Given the description of an element on the screen output the (x, y) to click on. 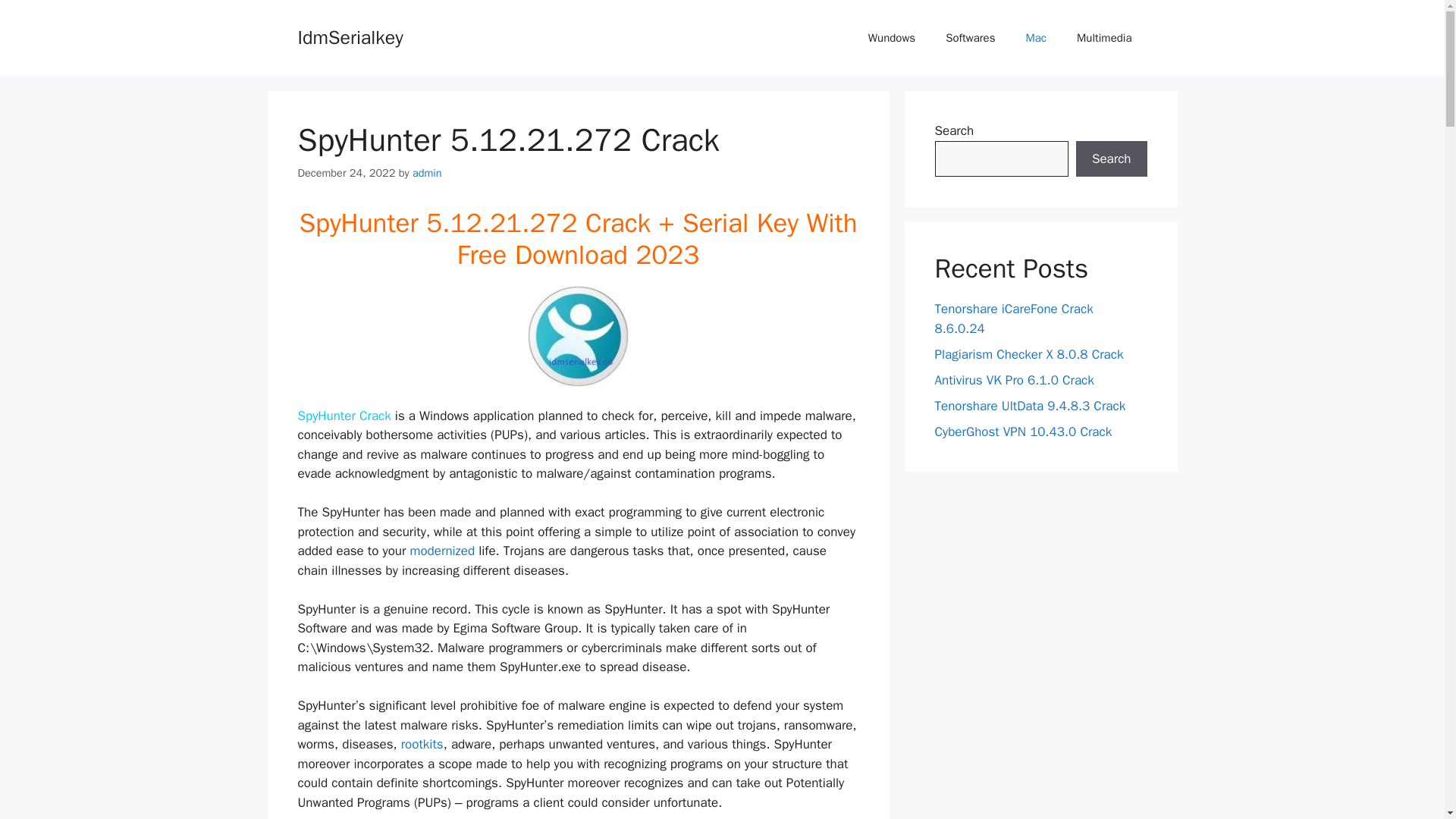
SpyHunter Crack (343, 415)
Multimedia (1104, 37)
IdmSerialkey (350, 37)
Mac (1035, 37)
modernized (443, 550)
Wundows (891, 37)
admin (427, 172)
rootkits (422, 744)
Softwares (970, 37)
View all posts by admin (427, 172)
